Given the description of an element on the screen output the (x, y) to click on. 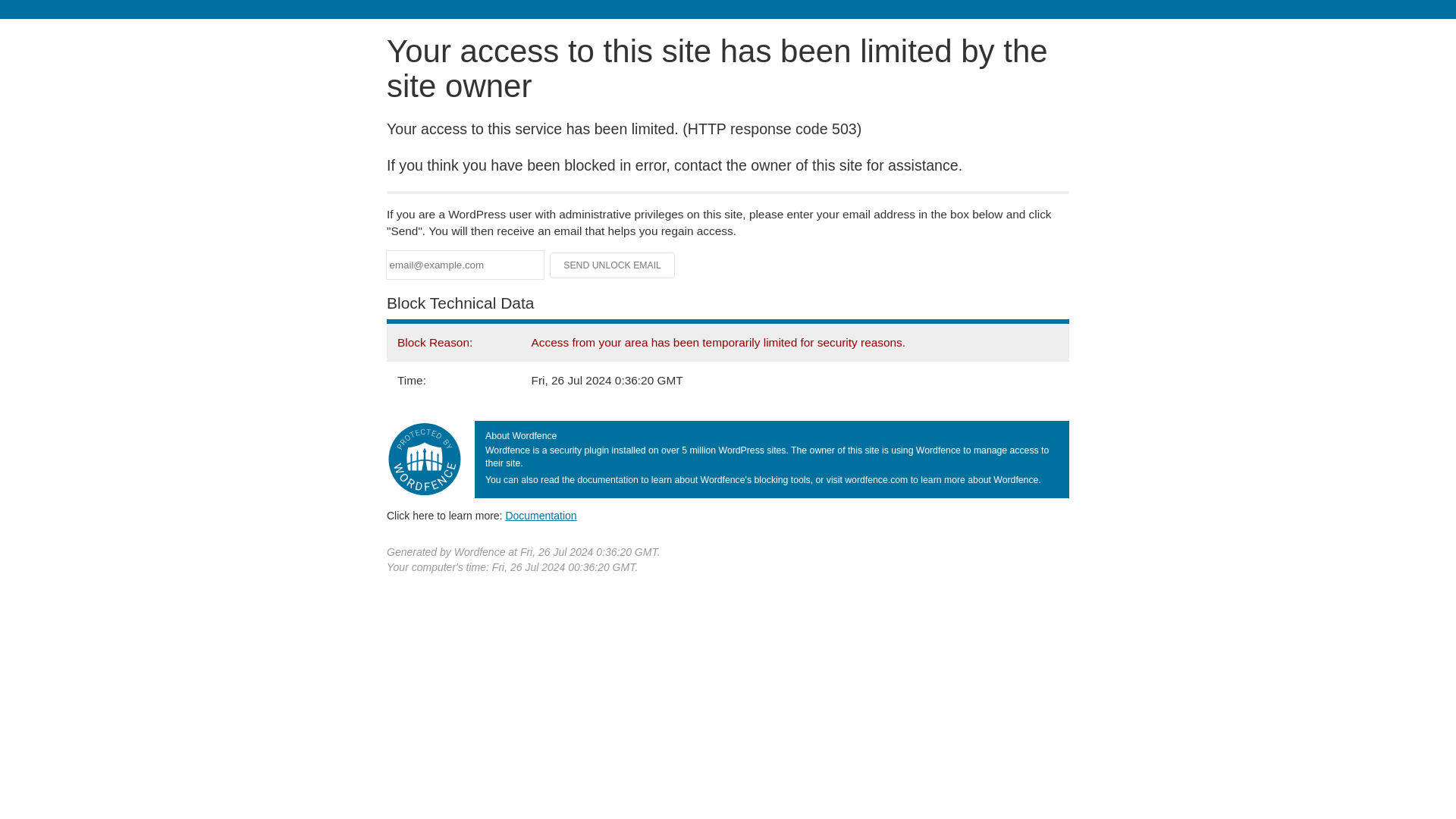
Documentation (540, 515)
Send Unlock Email (612, 265)
Send Unlock Email (612, 265)
